Given the description of an element on the screen output the (x, y) to click on. 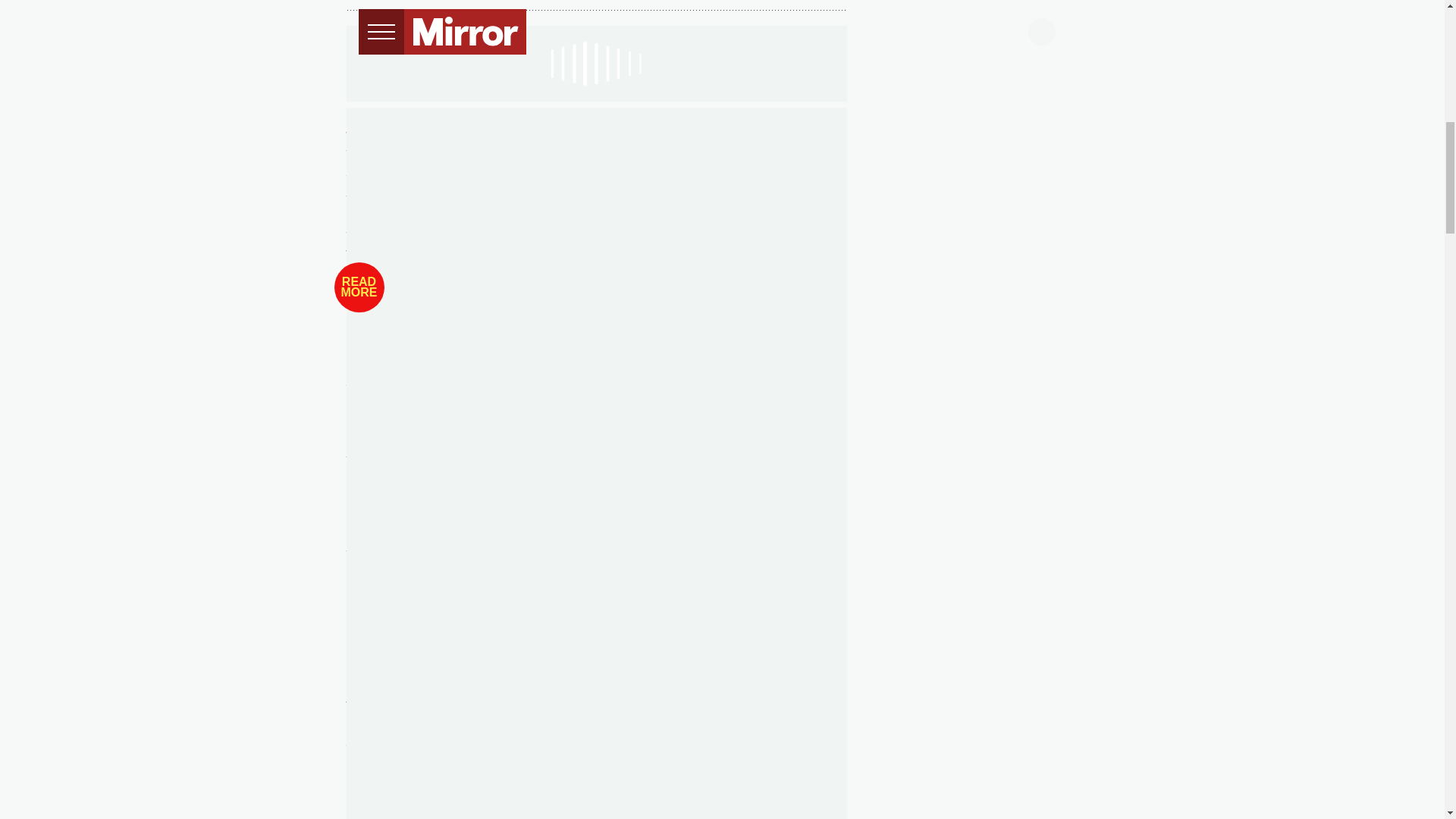
Princess of Wales (500, 234)
Prince William and Kate Middleton (521, 115)
I do in front of the eyes of the world (590, 124)
Prince William (717, 234)
